Given the description of an element on the screen output the (x, y) to click on. 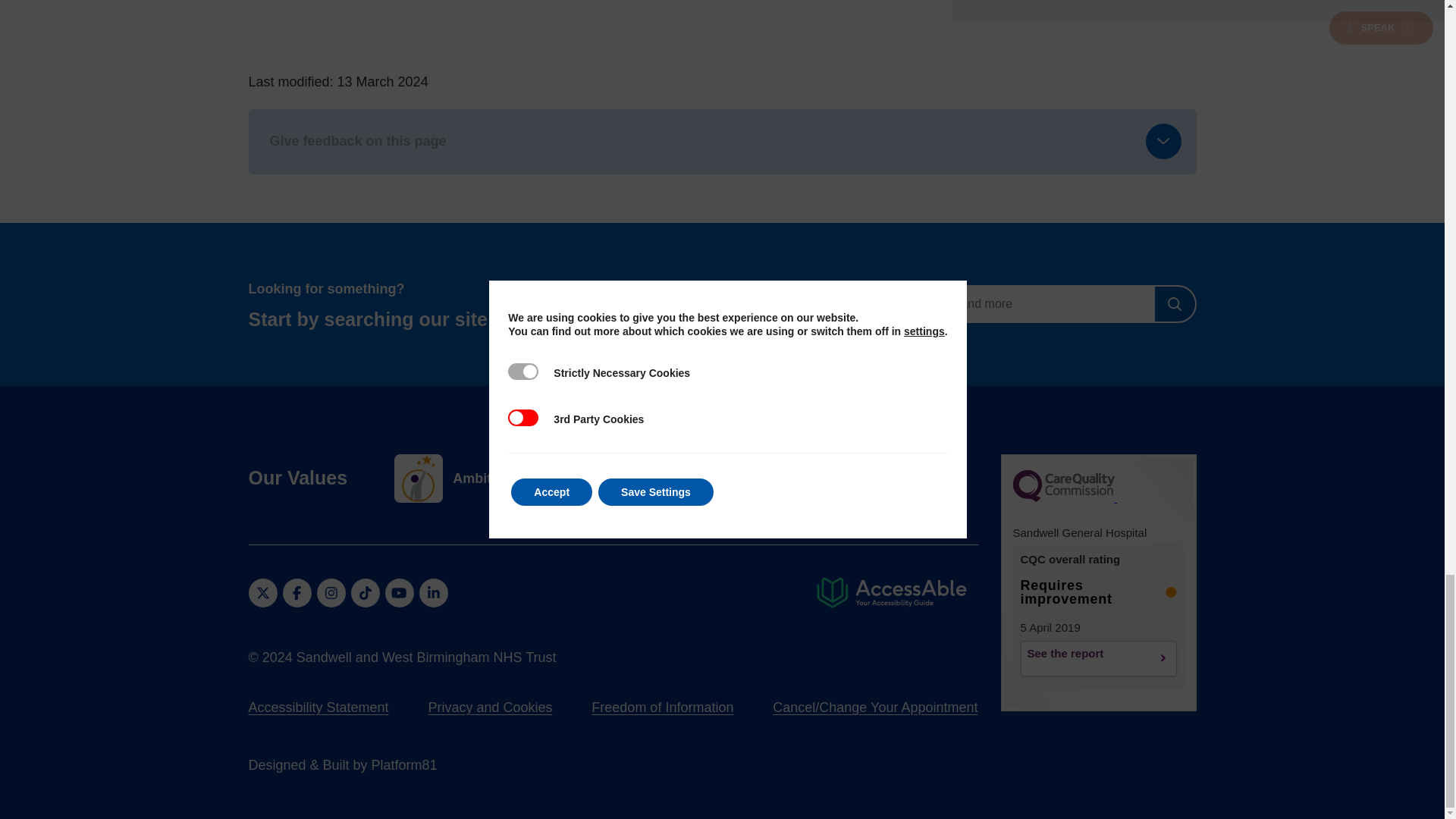
CQC Logo (1090, 503)
